Given the description of an element on the screen output the (x, y) to click on. 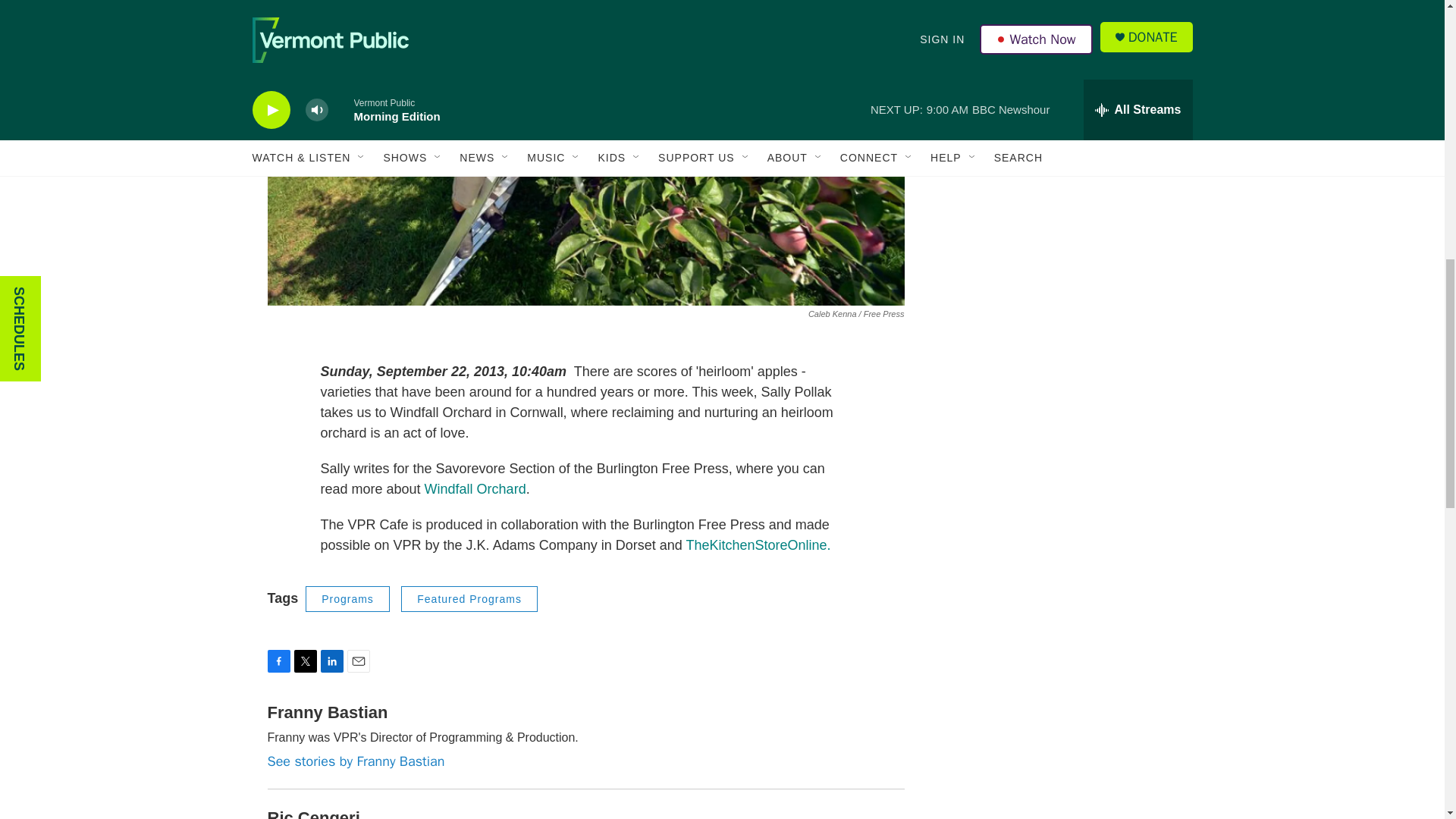
3rd party ad content (1062, 343)
3rd party ad content (1062, 124)
